Given the description of an element on the screen output the (x, y) to click on. 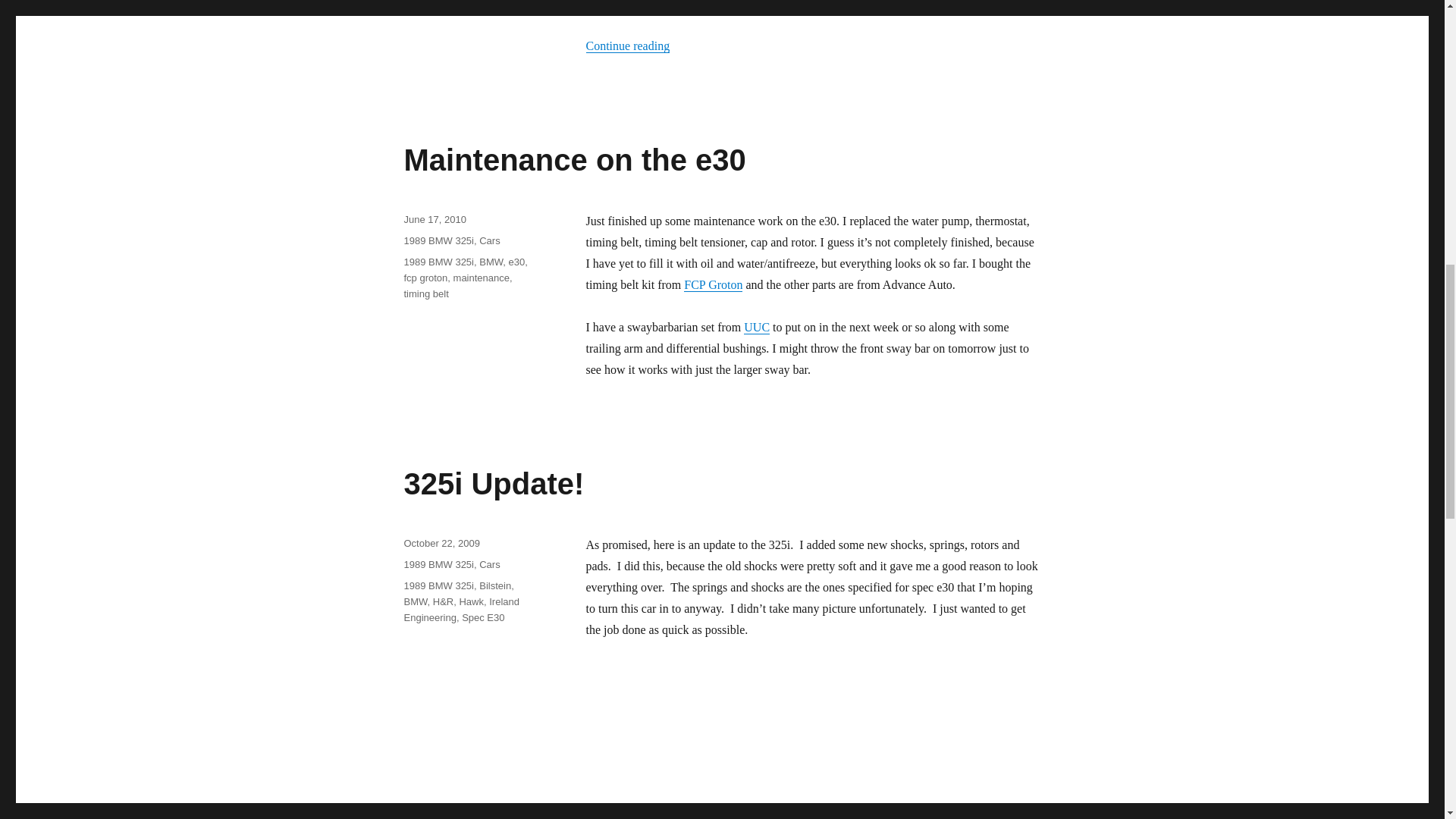
1989 BMW 325i (438, 564)
June 17, 2010 (434, 219)
Cars (489, 240)
UUC (757, 327)
Old vs New (813, 7)
timing belt (425, 293)
BMW (490, 261)
Maintenance on the e30 (574, 159)
October 22, 2009 (441, 542)
325i After Rear (813, 740)
